Given the description of an element on the screen output the (x, y) to click on. 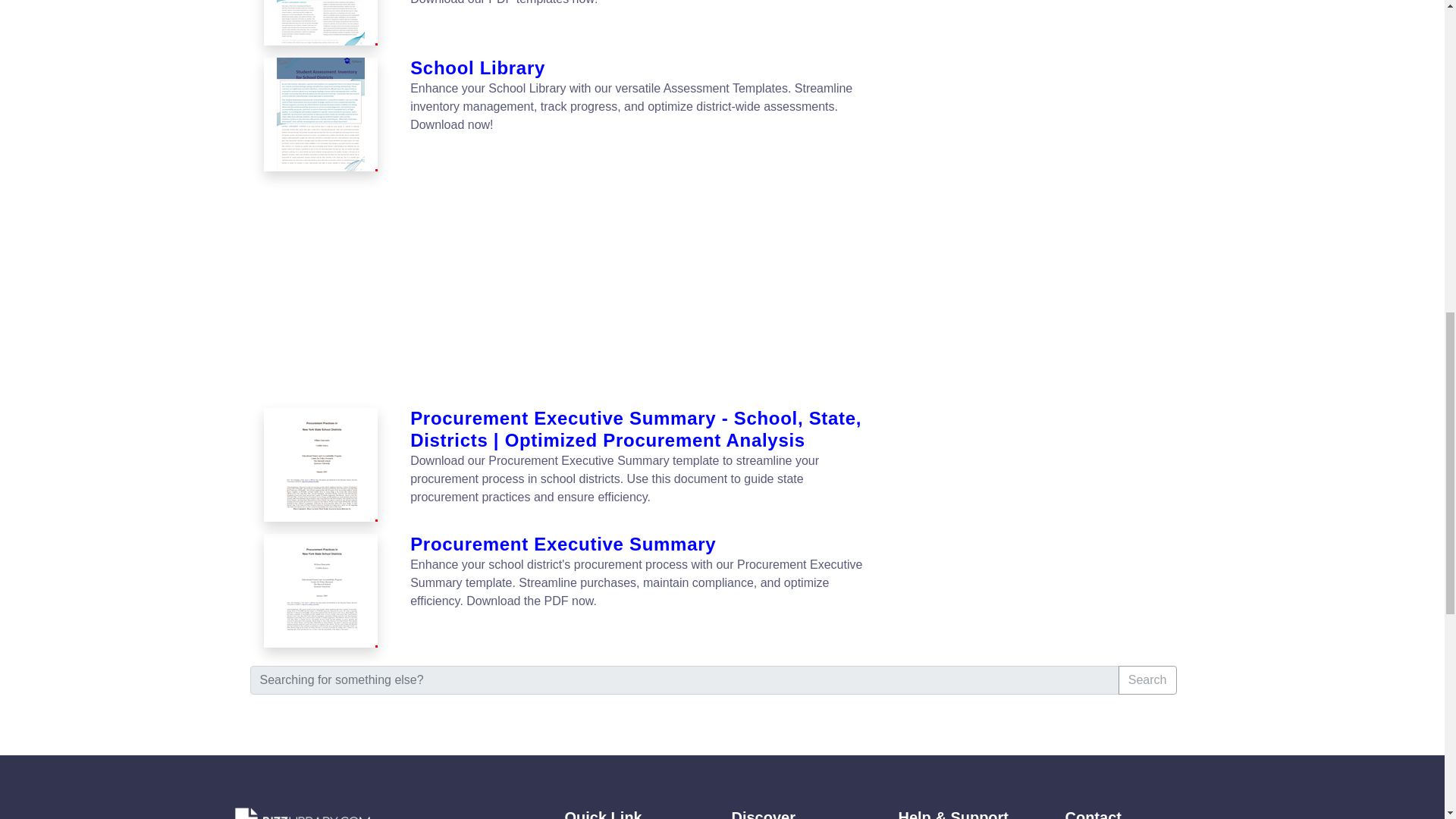
School Library (320, 114)
School Library Inventory Assessment for Districts (321, 22)
School Library (321, 114)
Procurement Executive Summary (641, 544)
Search (1147, 679)
School Library Inventory Assessment for Districts (320, 22)
School Library (641, 68)
